Given the description of an element on the screen output the (x, y) to click on. 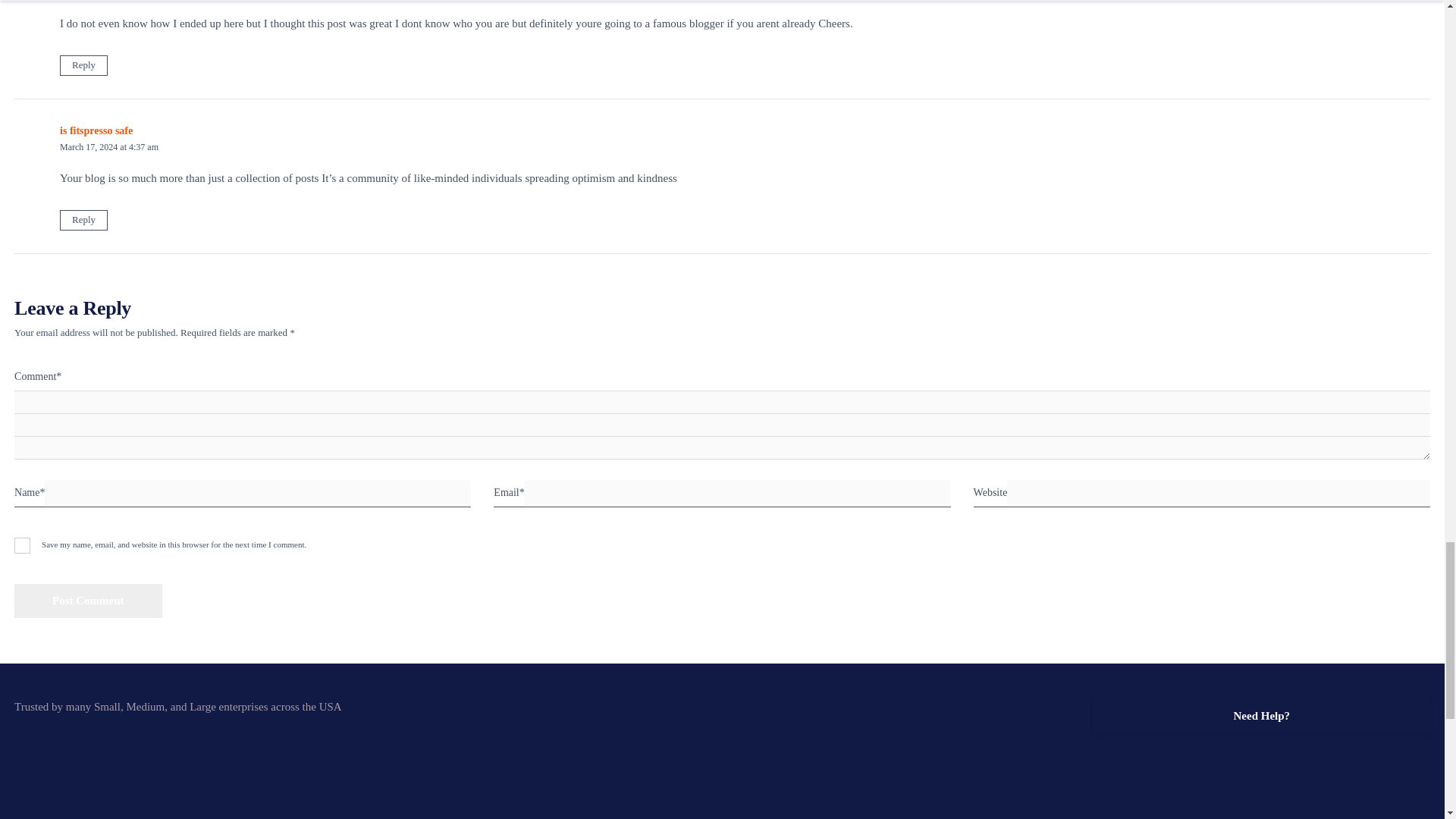
Post Comment (87, 600)
yes (22, 545)
